Given the description of an element on the screen output the (x, y) to click on. 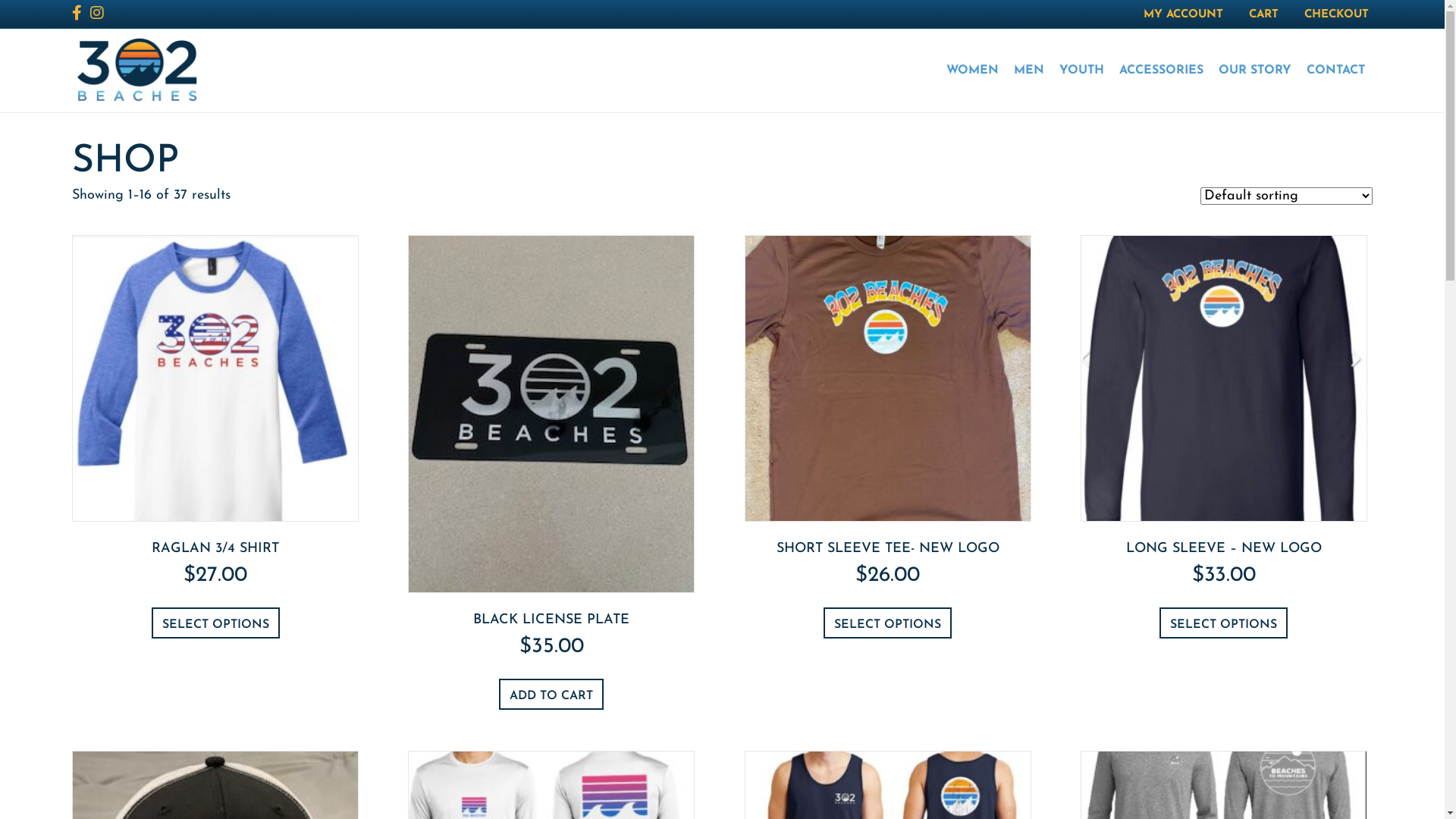
SELECT OPTIONS Element type: text (887, 622)
RAGLAN 3/4 SHIRT
$27.00 Element type: text (215, 433)
ADD TO CART Element type: text (550, 693)
CHECKOUT Element type: text (1336, 15)
Facebook Element type: text (81, 11)
SELECT OPTIONS Element type: text (1223, 622)
OUR STORY Element type: text (1255, 70)
MY ACCOUNT Element type: text (1183, 15)
CONTACT Element type: text (1335, 70)
MEN Element type: text (1028, 70)
SHORT SLEEVE TEE- NEW LOGO
$26.00 Element type: text (887, 433)
CART Element type: text (1263, 15)
YOUTH Element type: text (1081, 70)
WOMEN Element type: text (972, 70)
BLACK LICENSE PLATE
$35.00 Element type: text (550, 468)
SELECT OPTIONS Element type: text (215, 622)
Instagram Element type: text (99, 11)
ACCESSORIES Element type: text (1161, 70)
